Given the description of an element on the screen output the (x, y) to click on. 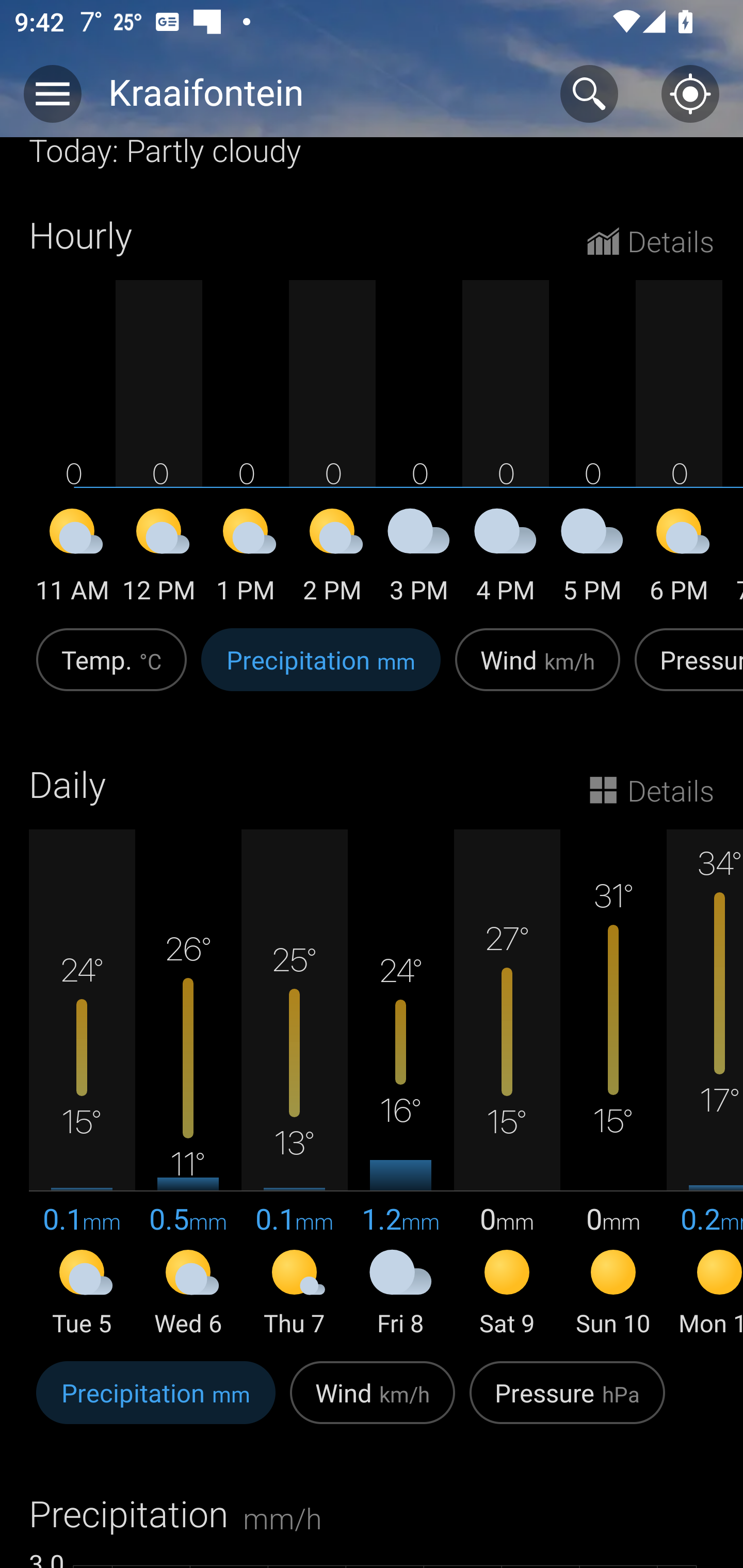
11 AM (71, 558)
12 PM (158, 558)
1 PM (245, 558)
2 PM (332, 558)
3 PM (418, 558)
4 PM (505, 558)
5 PM (592, 558)
6 PM (679, 558)
Temp. °C (110, 669)
Precipitation mm (320, 669)
Wind km/h (537, 669)
Pressure (685, 669)
24° 15° 0.1 mm Tue 5 (81, 1084)
26° 11° 0.5 mm Wed 6 (188, 1084)
25° 13° 0.1 mm Thu 7 (294, 1084)
24° 16° 1.2 mm Fri 8 (400, 1084)
27° 15° 0 mm Sat 9 (506, 1084)
31° 15° 0 mm Sun 10 (613, 1084)
34° 17° 0.2 mm Mon 11 (704, 1084)
Precipitation mm (155, 1403)
Wind km/h (372, 1403)
Pressure hPa (567, 1403)
